Given the description of an element on the screen output the (x, y) to click on. 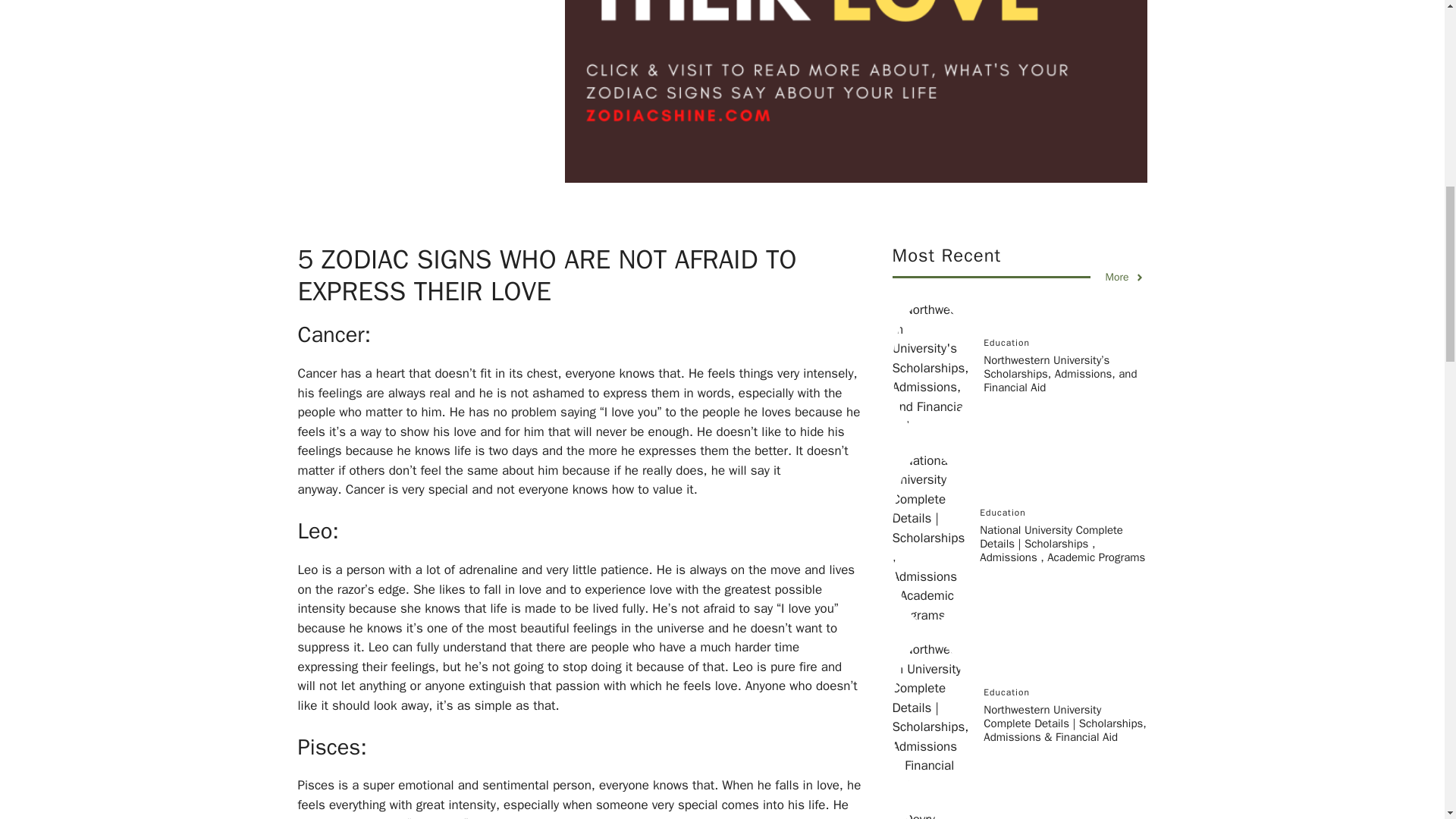
More (1124, 277)
Scroll back to top (1406, 720)
